Given the description of an element on the screen output the (x, y) to click on. 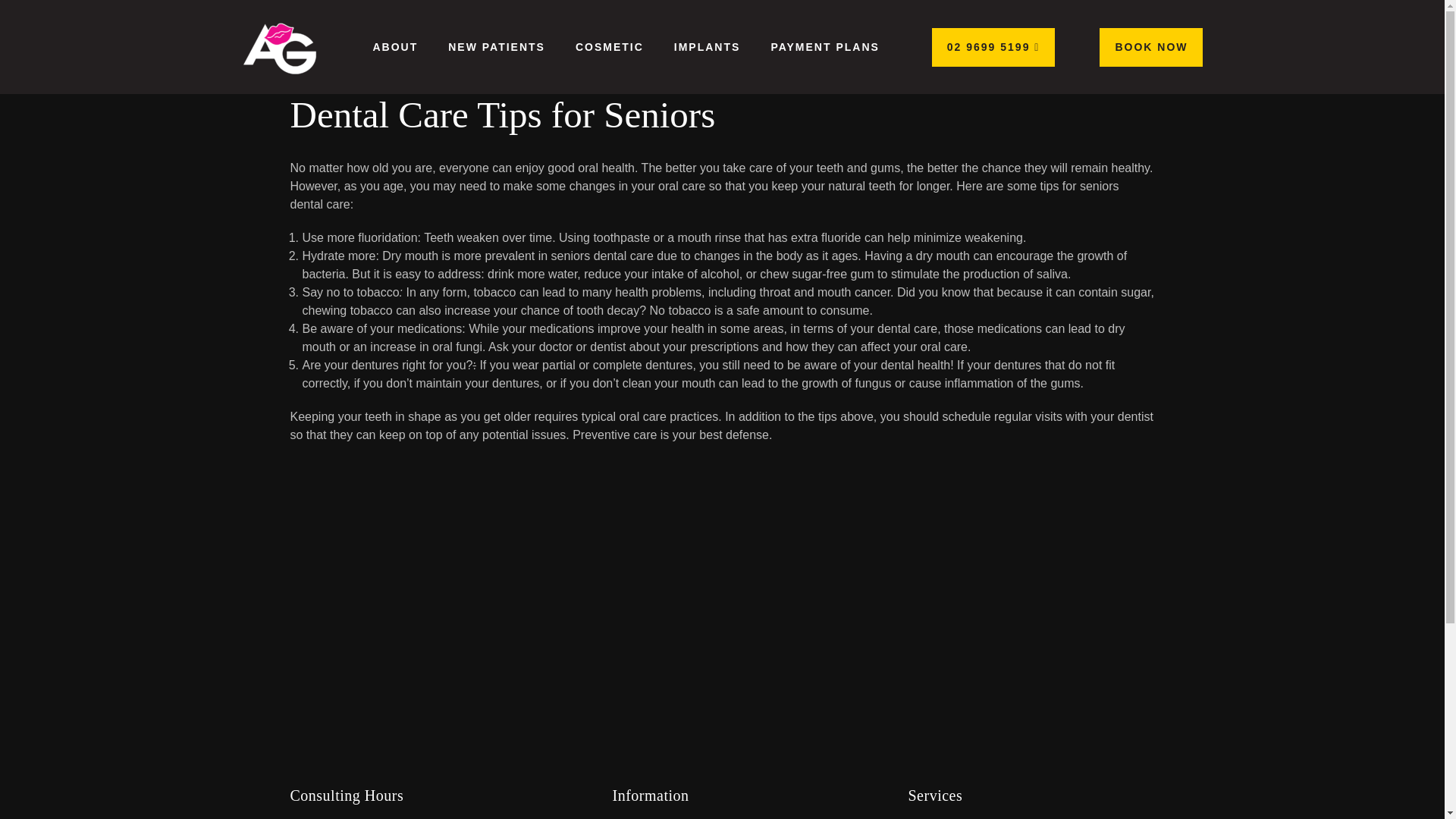
IMPLANTS (707, 46)
BOOK NOW (1150, 46)
ABOUT (394, 46)
PAYMENT PLANS (824, 46)
COSMETIC (609, 46)
02 9699 5199 (993, 46)
NEW PATIENTS (496, 46)
